Given the description of an element on the screen output the (x, y) to click on. 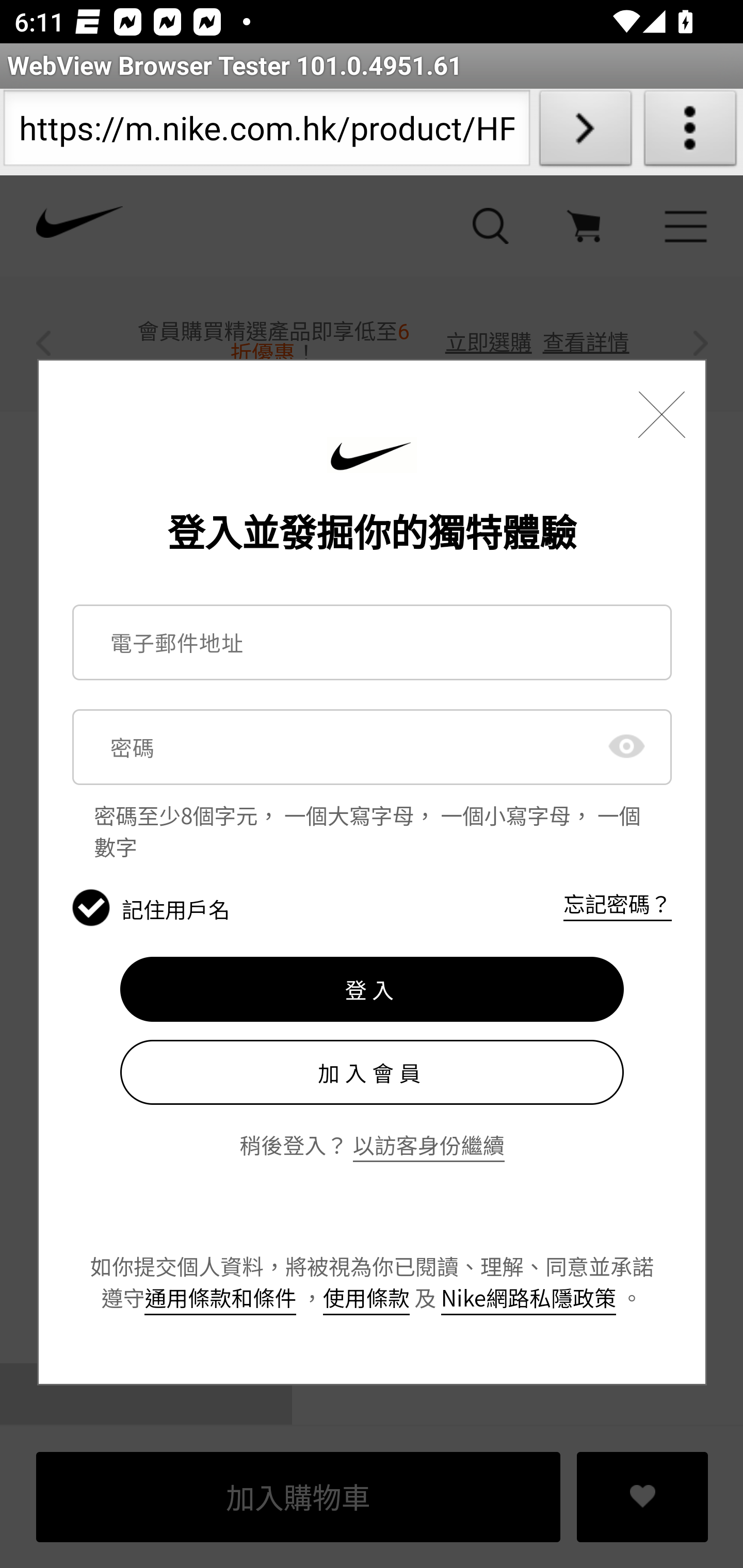
Load URL (585, 132)
About WebView (690, 132)
忘記密碼？ (617, 903)
登入 (371, 988)
加入會員 (371, 1071)
通用條款和條件 (220, 1297)
使用條款 (365, 1297)
Nike網路私隱政策 (528, 1297)
加入購物車 (298, 1497)
wish (642, 1497)
